Given the description of an element on the screen output the (x, y) to click on. 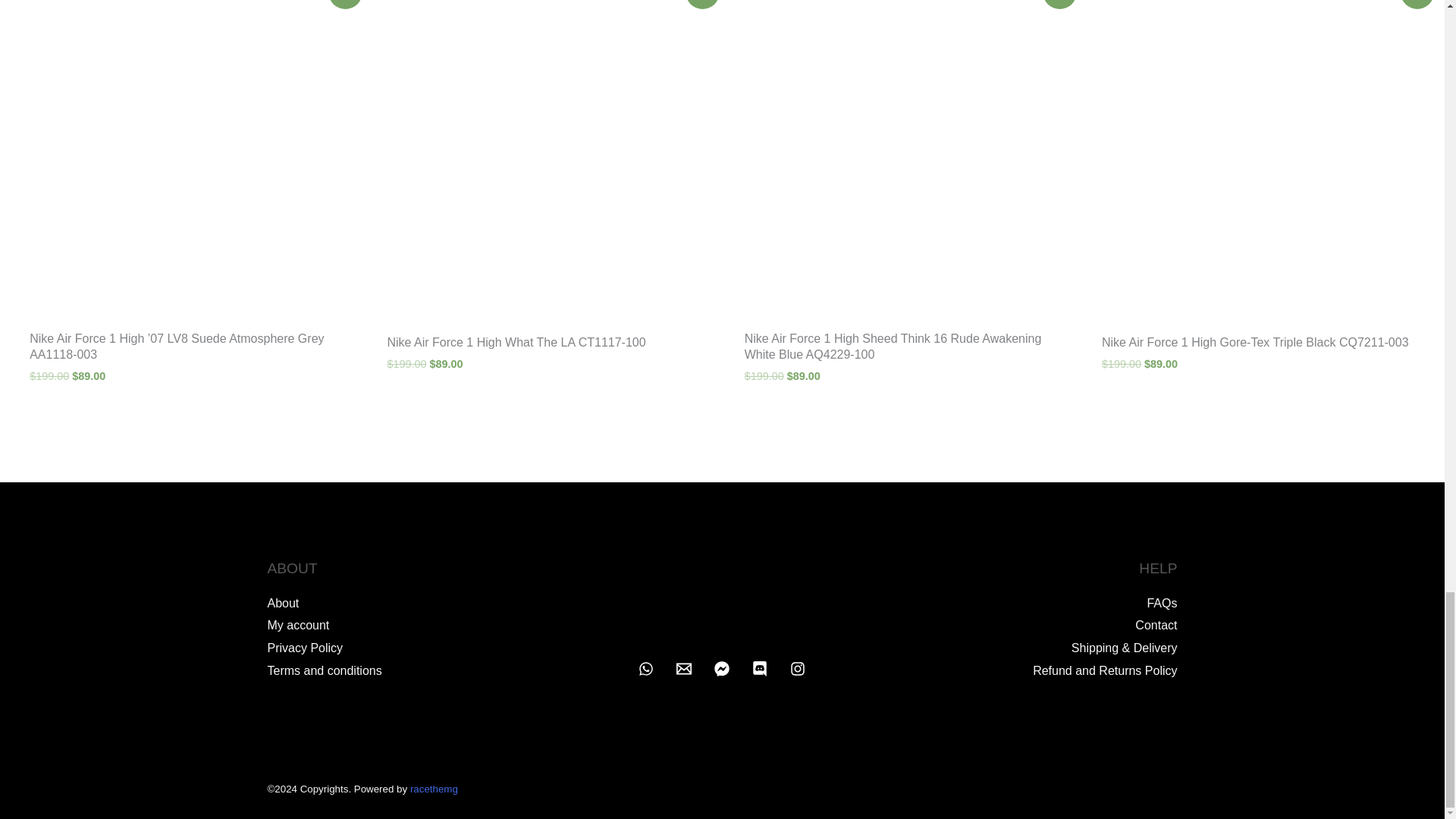
Nike Air Force 1 High CT1117-100 - What The LA Exclusive (543, 160)
